Given the description of an element on the screen output the (x, y) to click on. 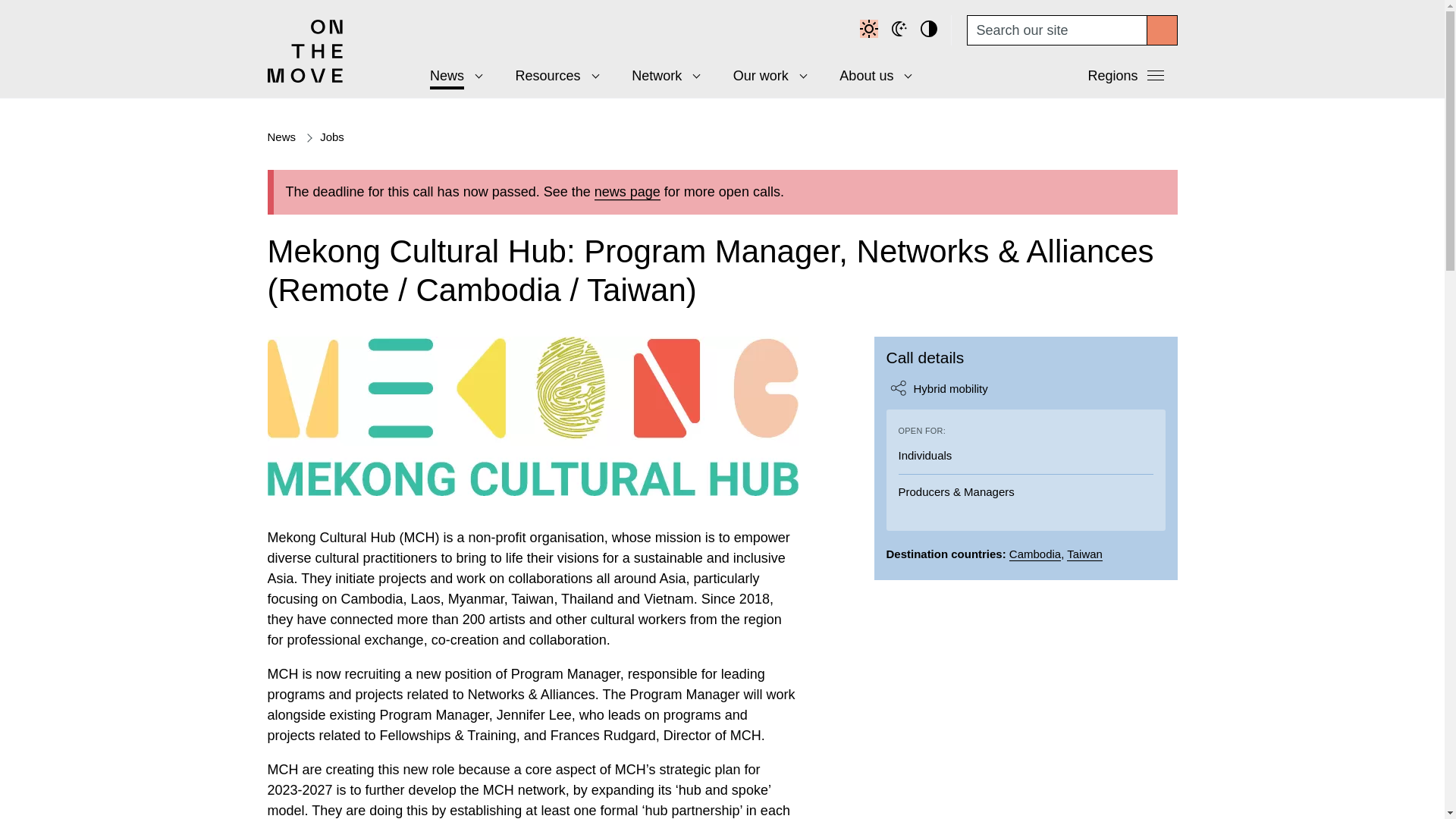
body-high-contrast (930, 30)
Search (1161, 30)
body-default (871, 30)
About us (870, 75)
Search (1161, 30)
Resources (551, 75)
Regions (1126, 78)
Our work (765, 75)
body-dark (900, 30)
Network (661, 75)
News (451, 75)
